Given the description of an element on the screen output the (x, y) to click on. 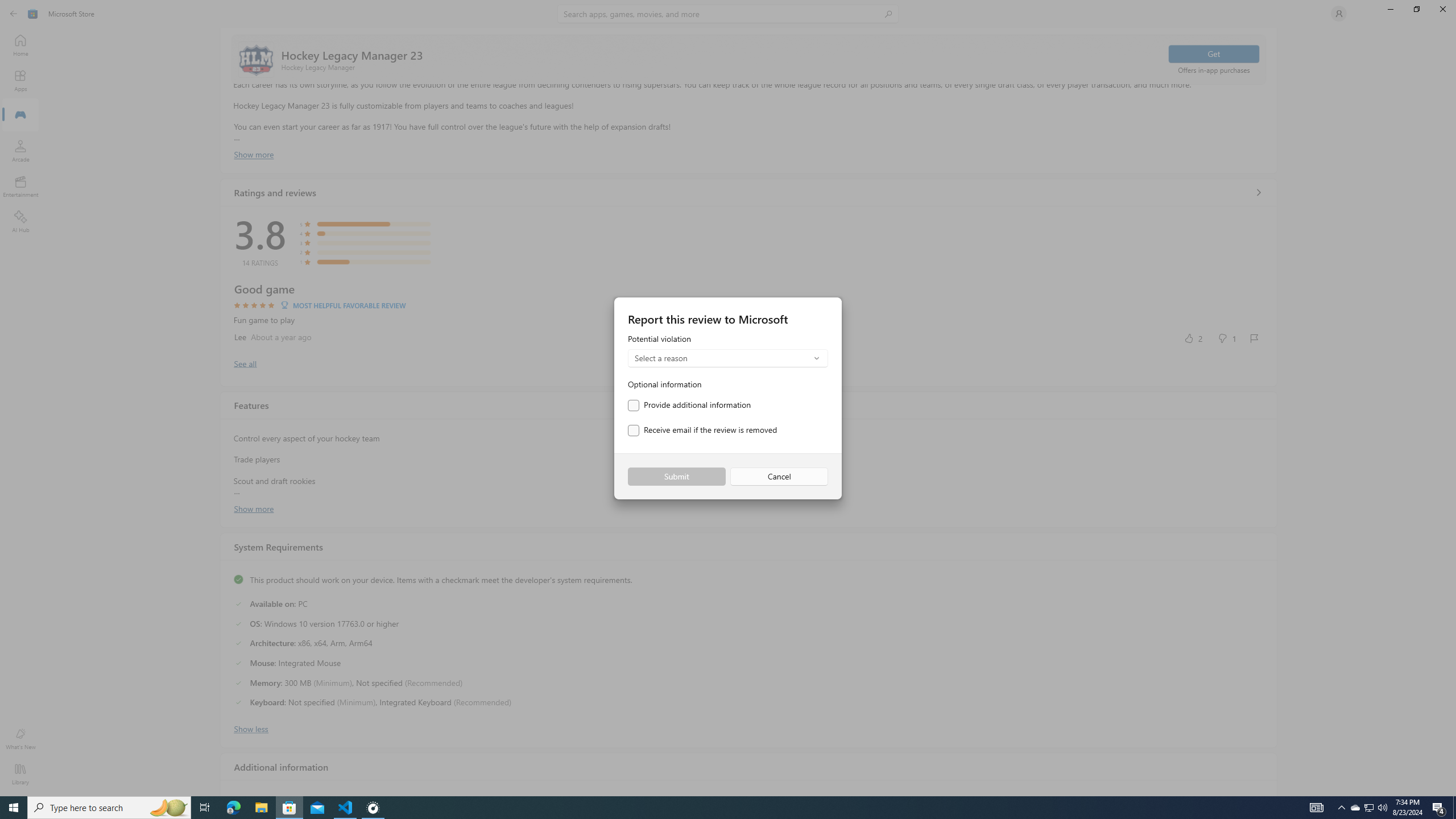
Apps (20, 80)
